Given the description of an element on the screen output the (x, y) to click on. 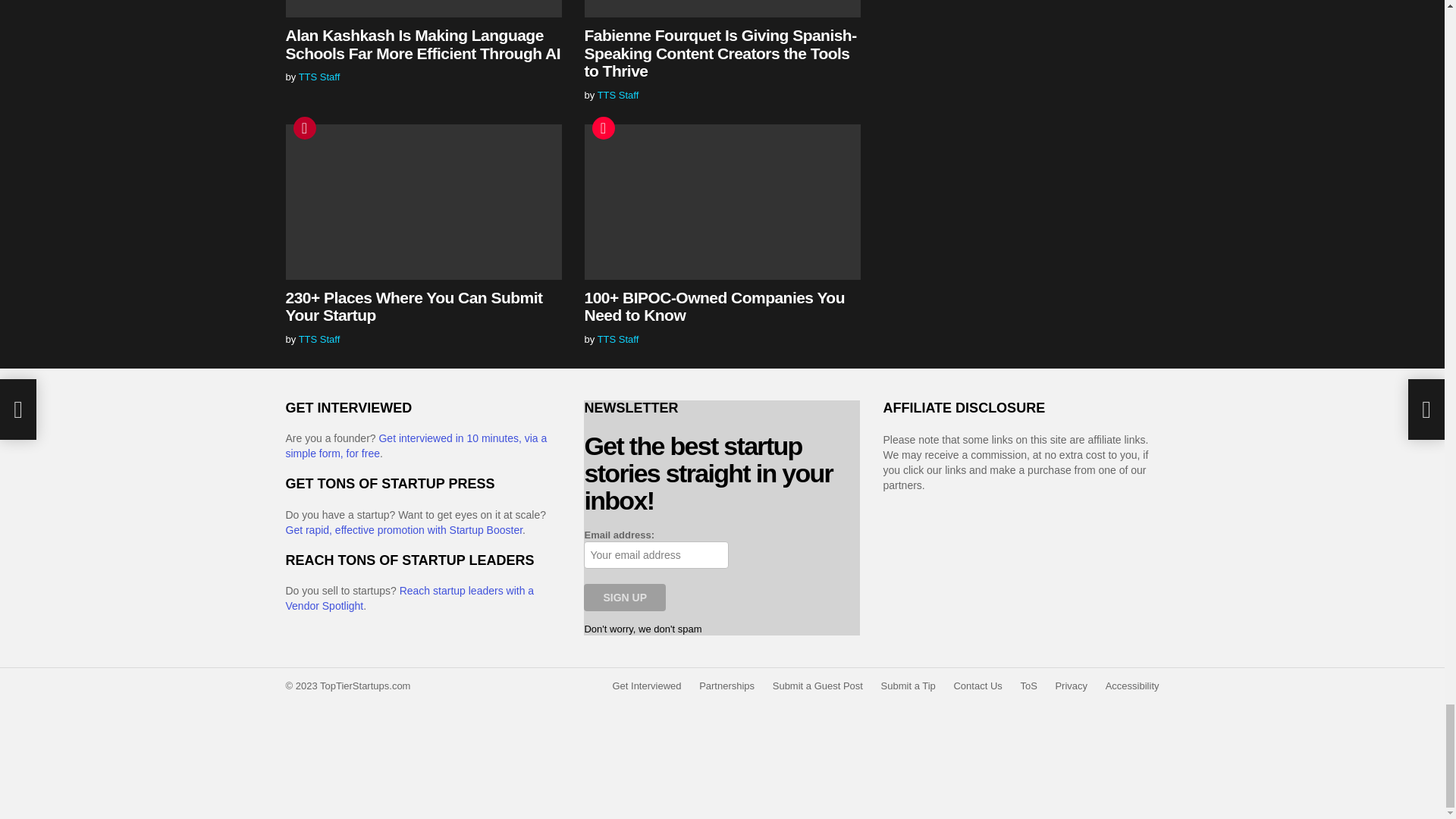
Sign up (624, 596)
